Given the description of an element on the screen output the (x, y) to click on. 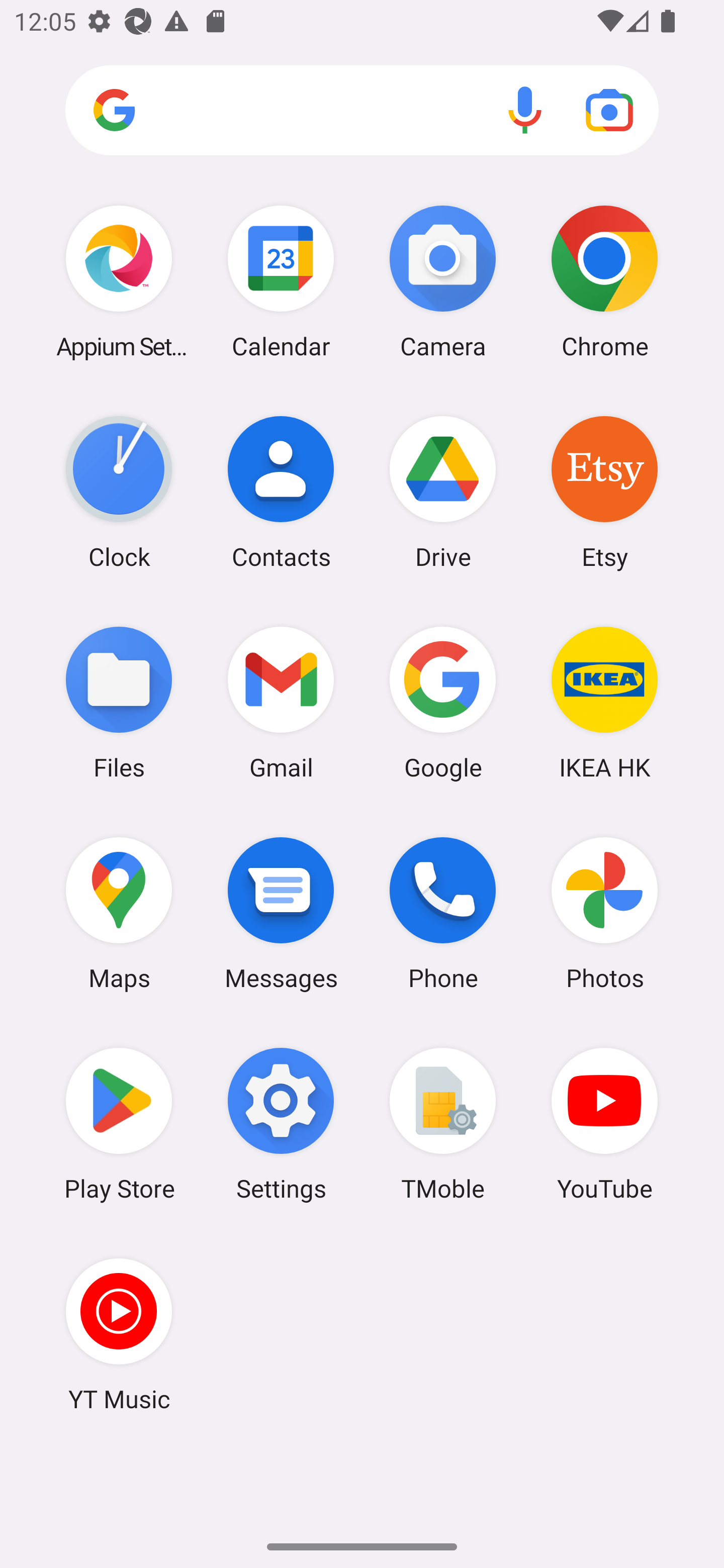
Search apps, web and more (361, 110)
Voice search (524, 109)
Google Lens (608, 109)
Appium Settings (118, 281)
Calendar (280, 281)
Camera (443, 281)
Chrome (604, 281)
Clock (118, 492)
Contacts (280, 492)
Drive (443, 492)
Etsy (604, 492)
Files (118, 702)
Gmail (280, 702)
Google (443, 702)
IKEA HK (604, 702)
Maps (118, 913)
Messages (280, 913)
Phone (443, 913)
Photos (604, 913)
Play Store (118, 1124)
Settings (280, 1124)
TMoble (443, 1124)
YouTube (604, 1124)
YT Music (118, 1334)
